Given the description of an element on the screen output the (x, y) to click on. 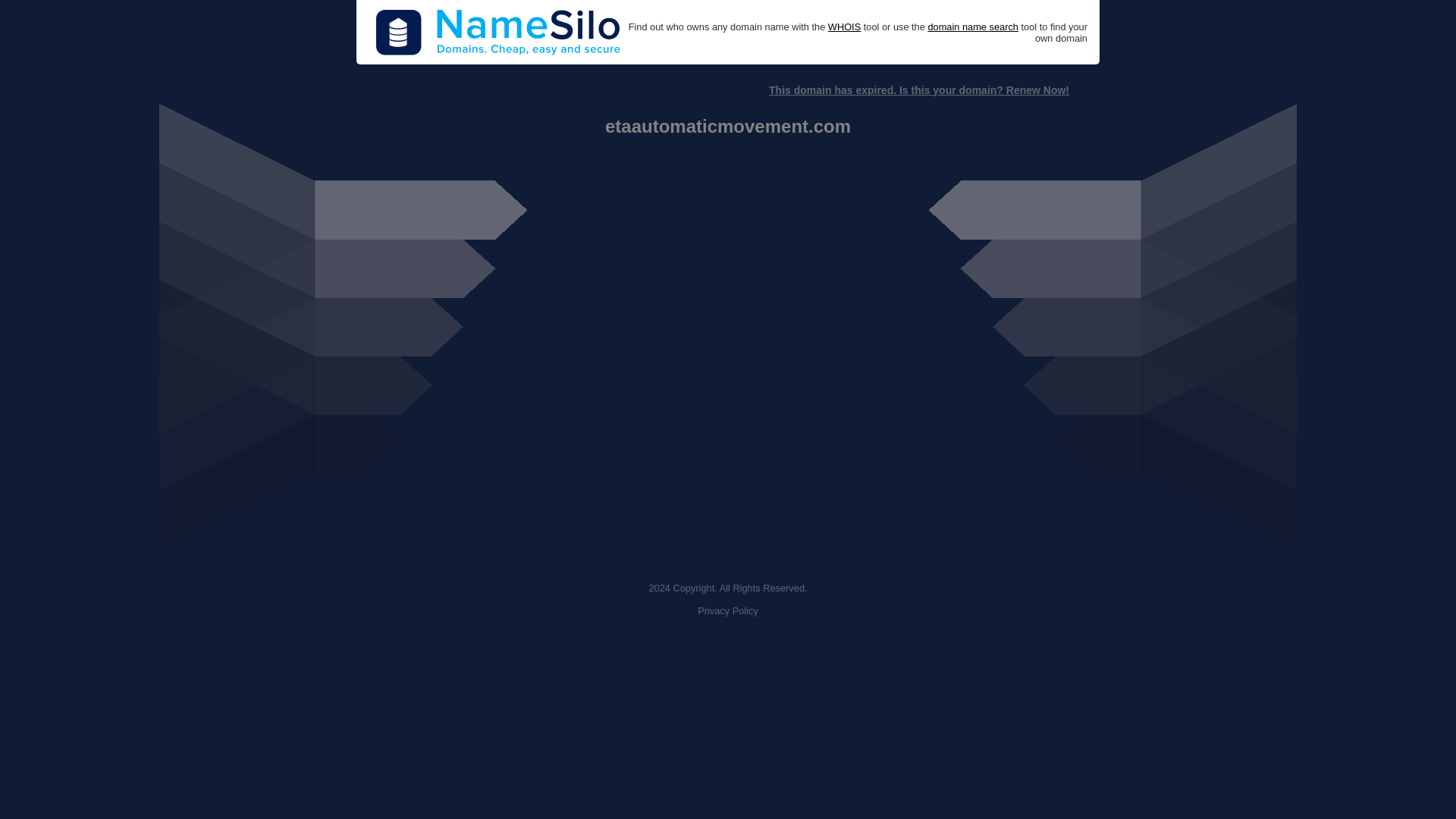
Privacy Policy (727, 610)
domain name search (972, 26)
WHOIS (844, 26)
This domain has expired. Is this your domain? Renew Now! (918, 90)
